Given the description of an element on the screen output the (x, y) to click on. 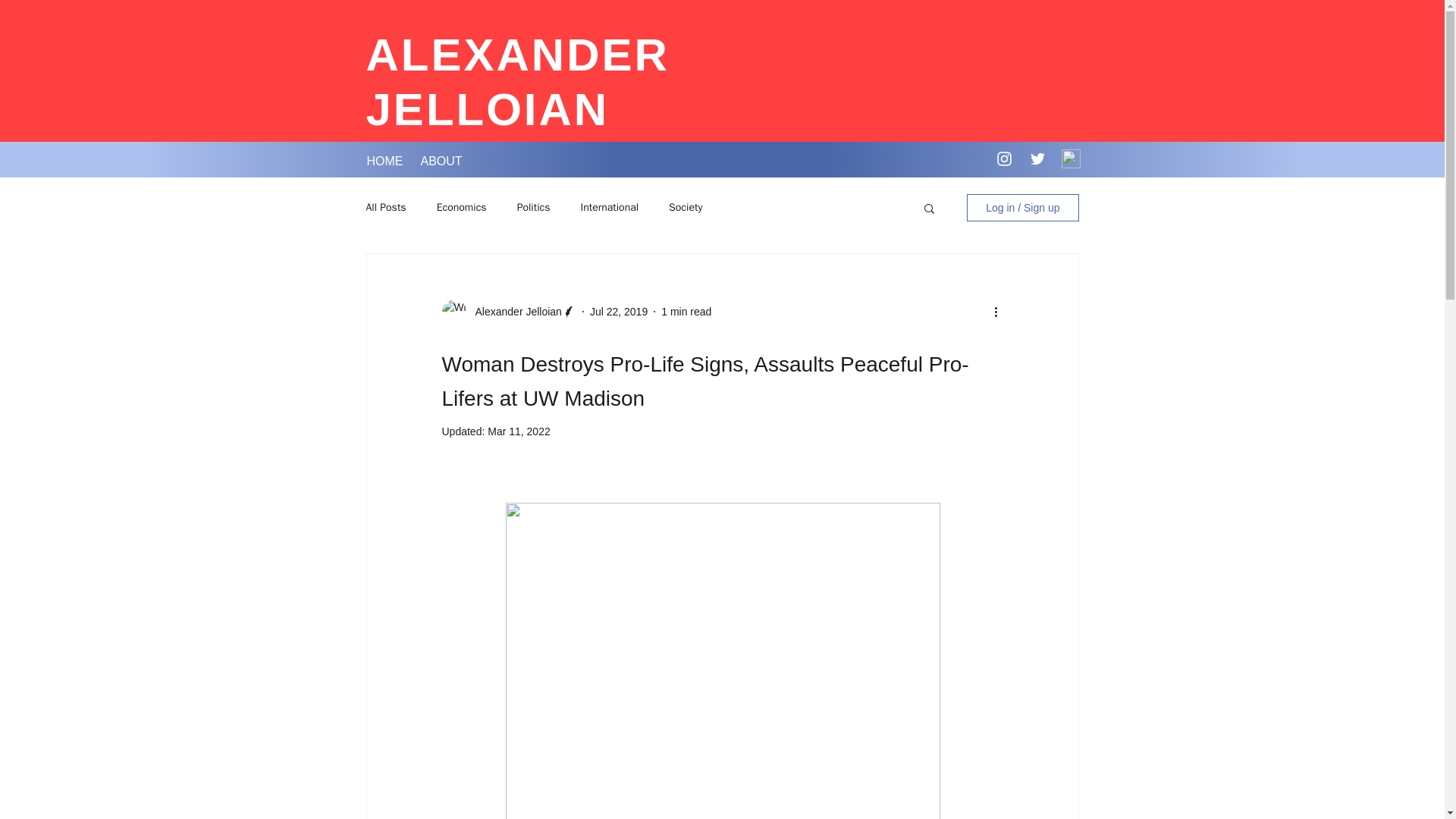
International (609, 207)
Jul 22, 2019 (618, 310)
1 min read (686, 310)
Society (684, 207)
Alexander Jelloian (512, 311)
ALEXANDER JELLOIAN (516, 82)
ABOUT (438, 160)
Mar 11, 2022 (518, 431)
Politics (533, 207)
Economics (461, 207)
All Posts (385, 207)
HOME (382, 160)
